Given the description of an element on the screen output the (x, y) to click on. 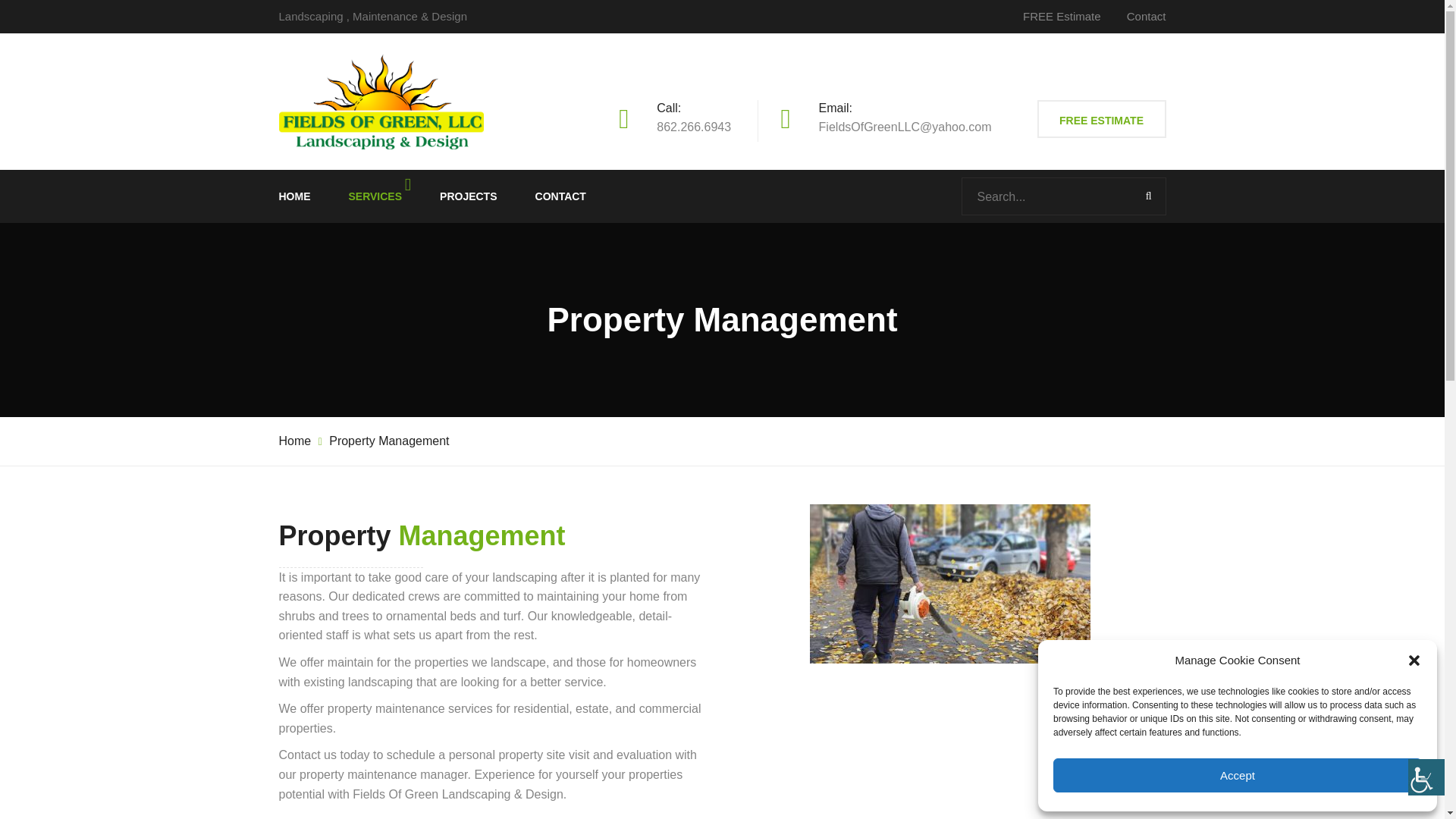
FREE Estimate (1061, 15)
Contact (1146, 15)
Accept (1237, 775)
